Given the description of an element on the screen output the (x, y) to click on. 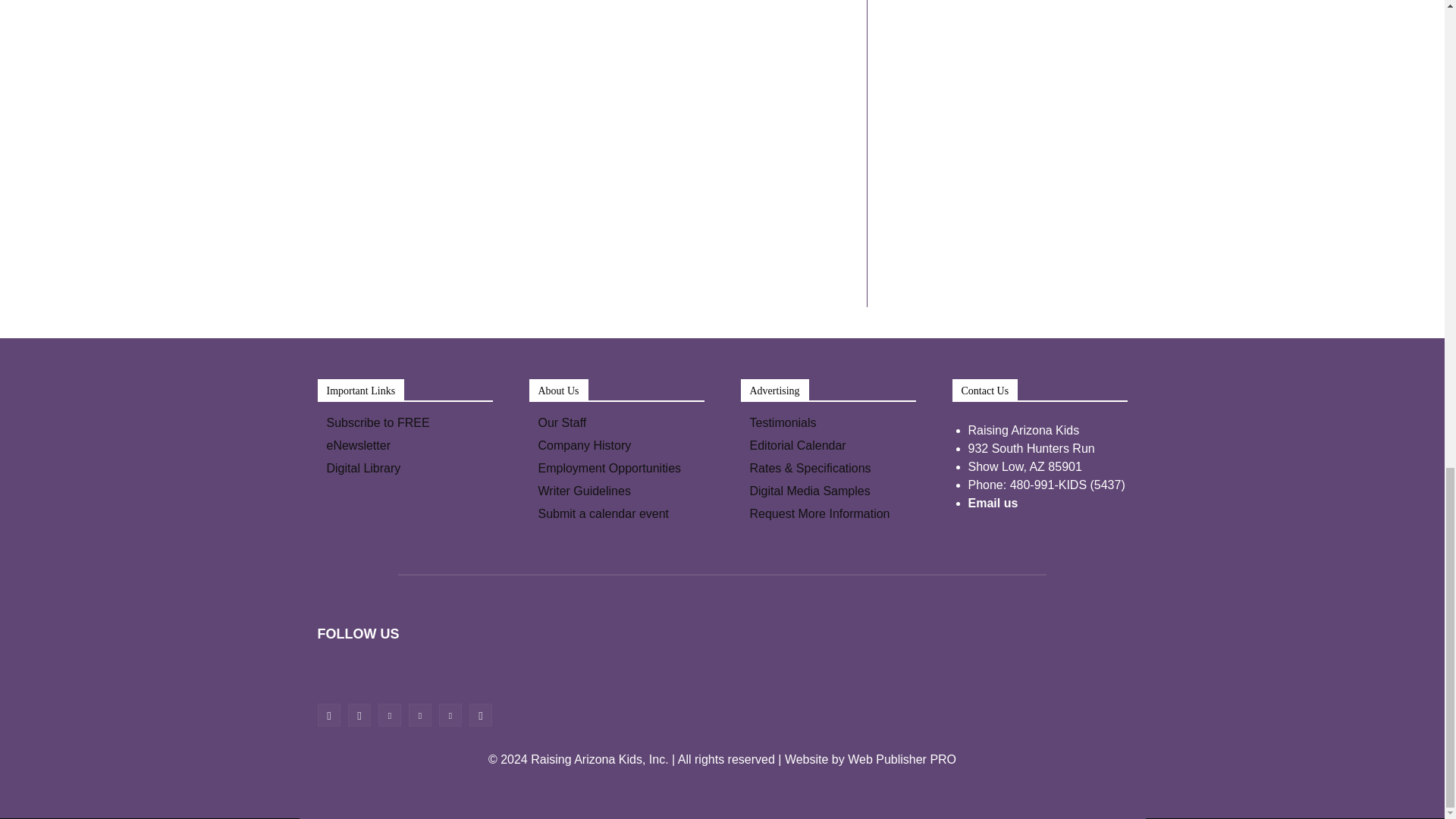
Youtube (480, 714)
Pinterest (419, 714)
Linkedin (389, 714)
Facebook (328, 714)
Twitter (450, 714)
Instagram (359, 714)
